Given the description of an element on the screen output the (x, y) to click on. 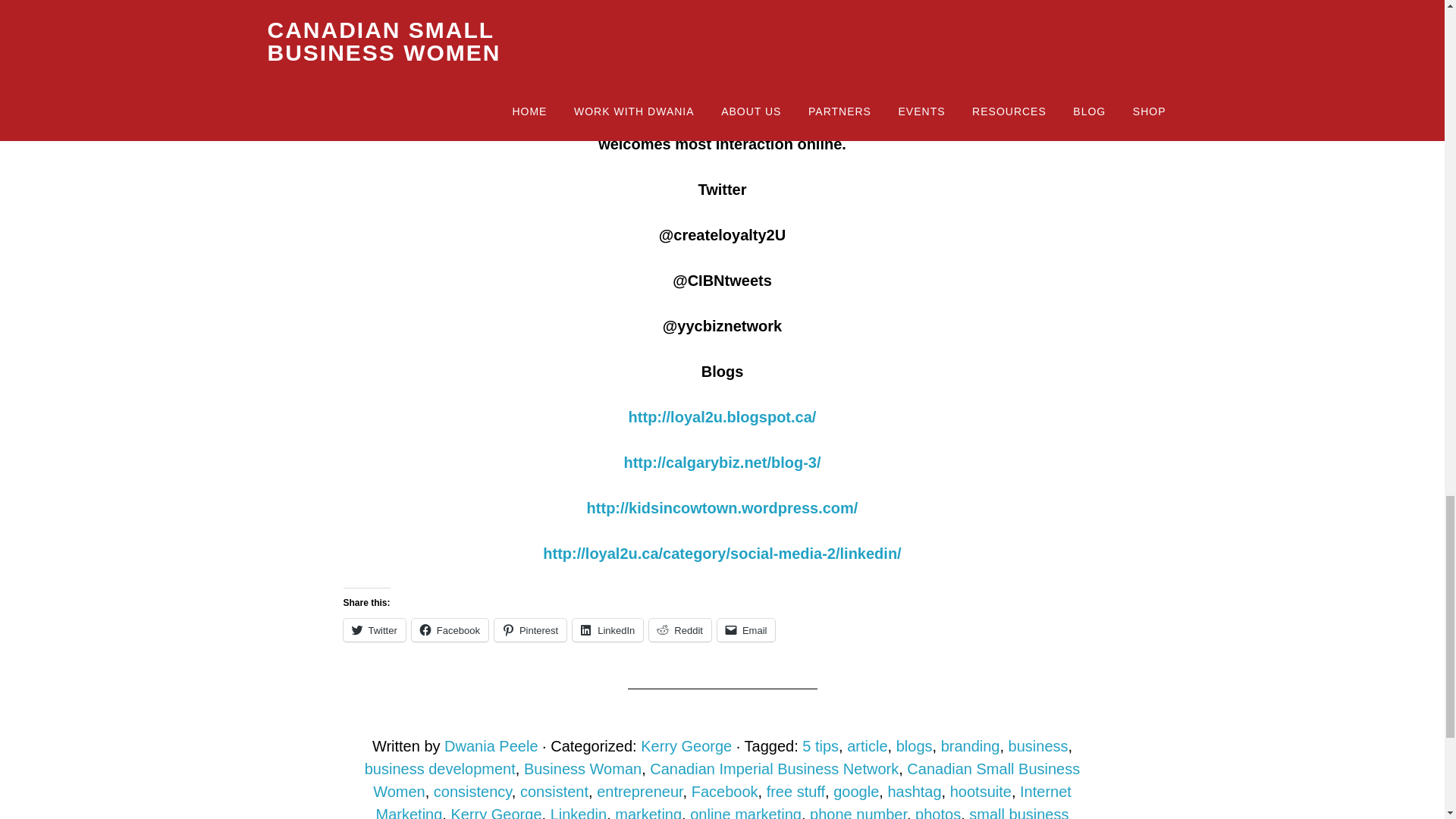
Pinterest (530, 630)
Twitter (373, 630)
Dwania Peele (490, 745)
branding (970, 745)
blogs (914, 745)
LinkedIn (607, 630)
Facebook (449, 630)
Click to share on LinkedIn (607, 630)
Click to share on Facebook (449, 630)
Kerry George (686, 745)
